Given the description of an element on the screen output the (x, y) to click on. 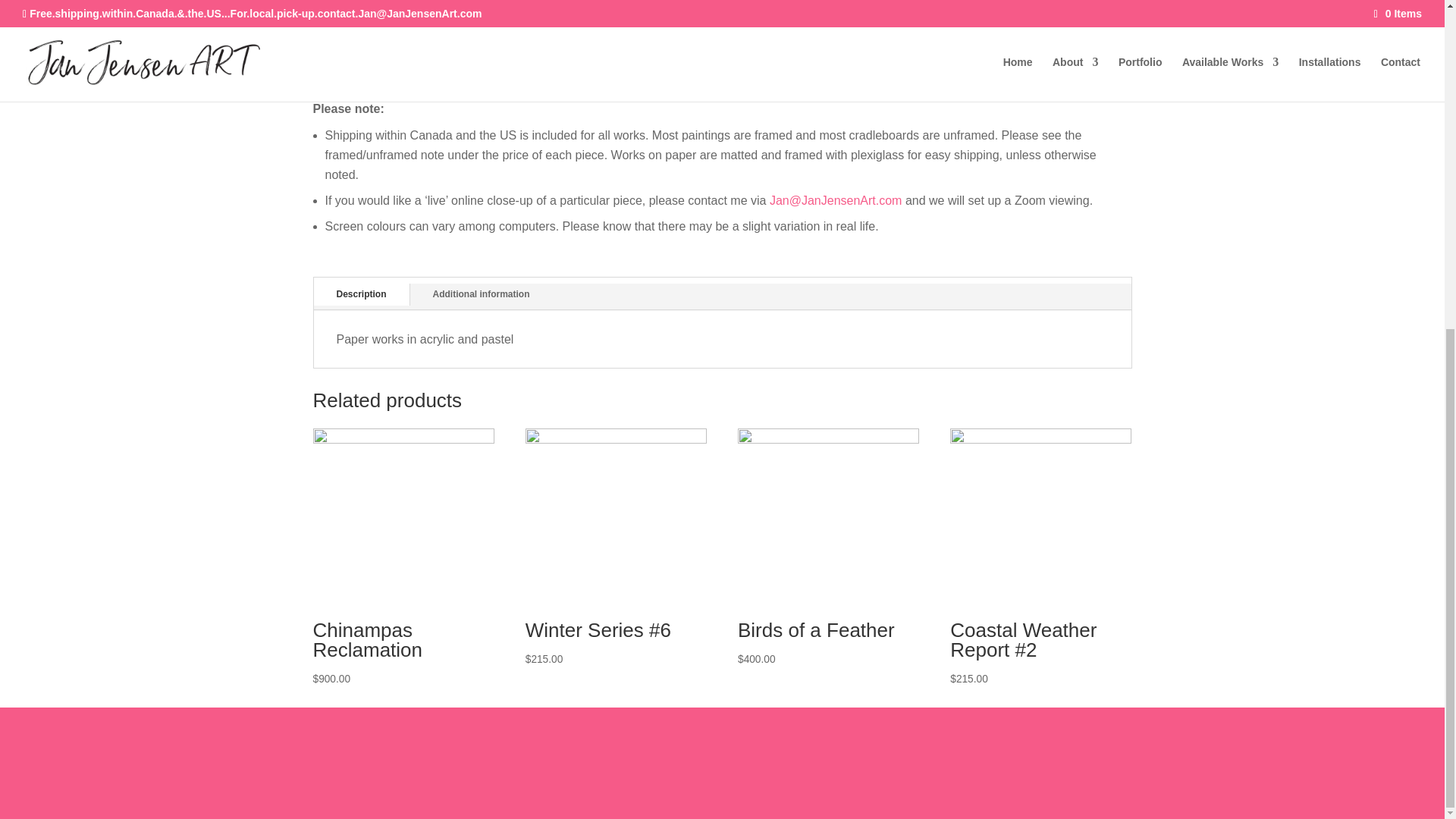
Additional information (481, 293)
Description (361, 293)
